Given the description of an element on the screen output the (x, y) to click on. 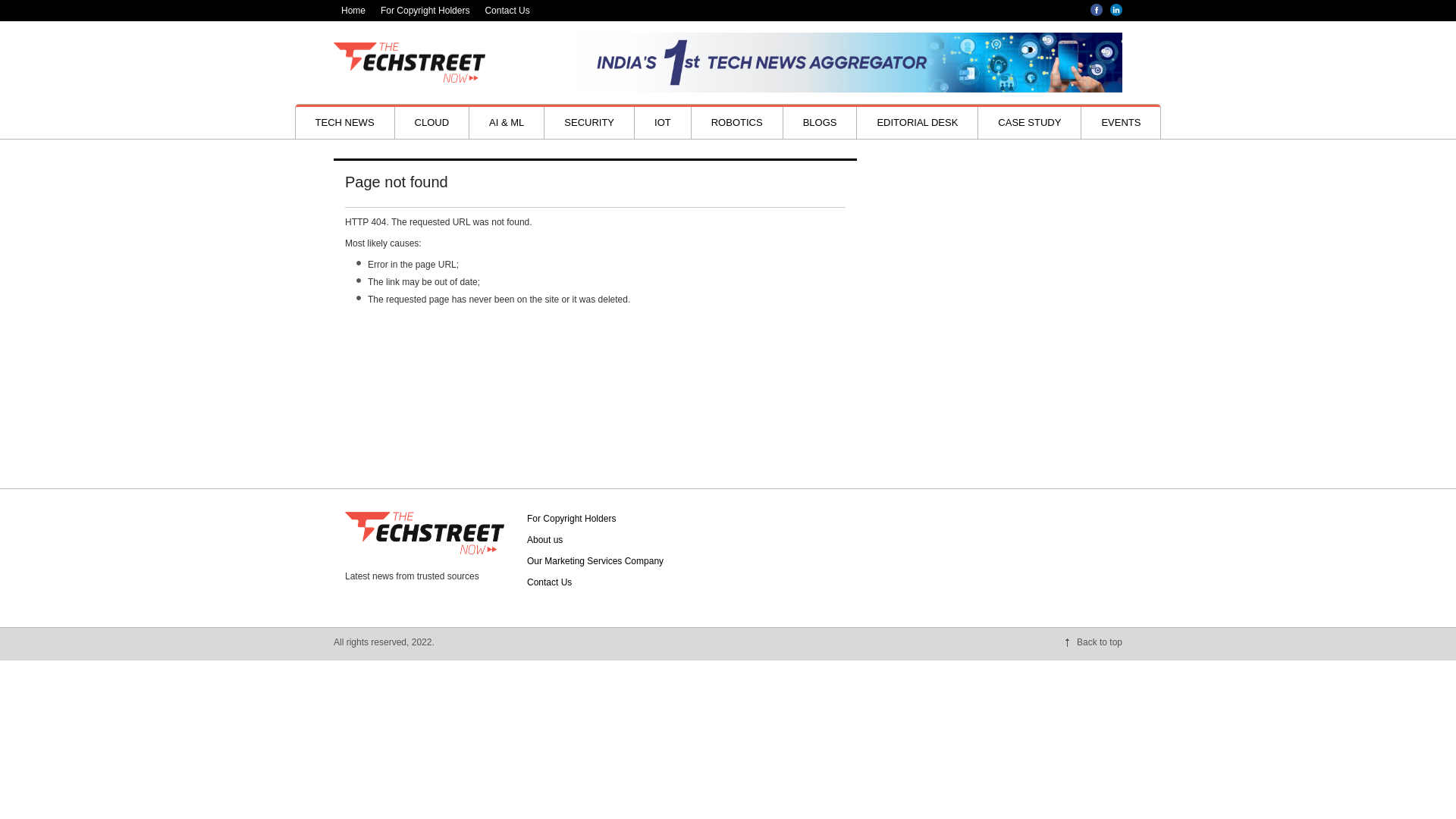
SECURITY (588, 122)
TECH NEWS (344, 122)
Contact Us (507, 10)
Back to top (1093, 642)
CLOUD (431, 122)
LinkedIN (1115, 9)
Facebook (1096, 9)
For Copyright Holders (571, 518)
CASE STUDY (1028, 122)
For Copyright Holders (424, 10)
